Given the description of an element on the screen output the (x, y) to click on. 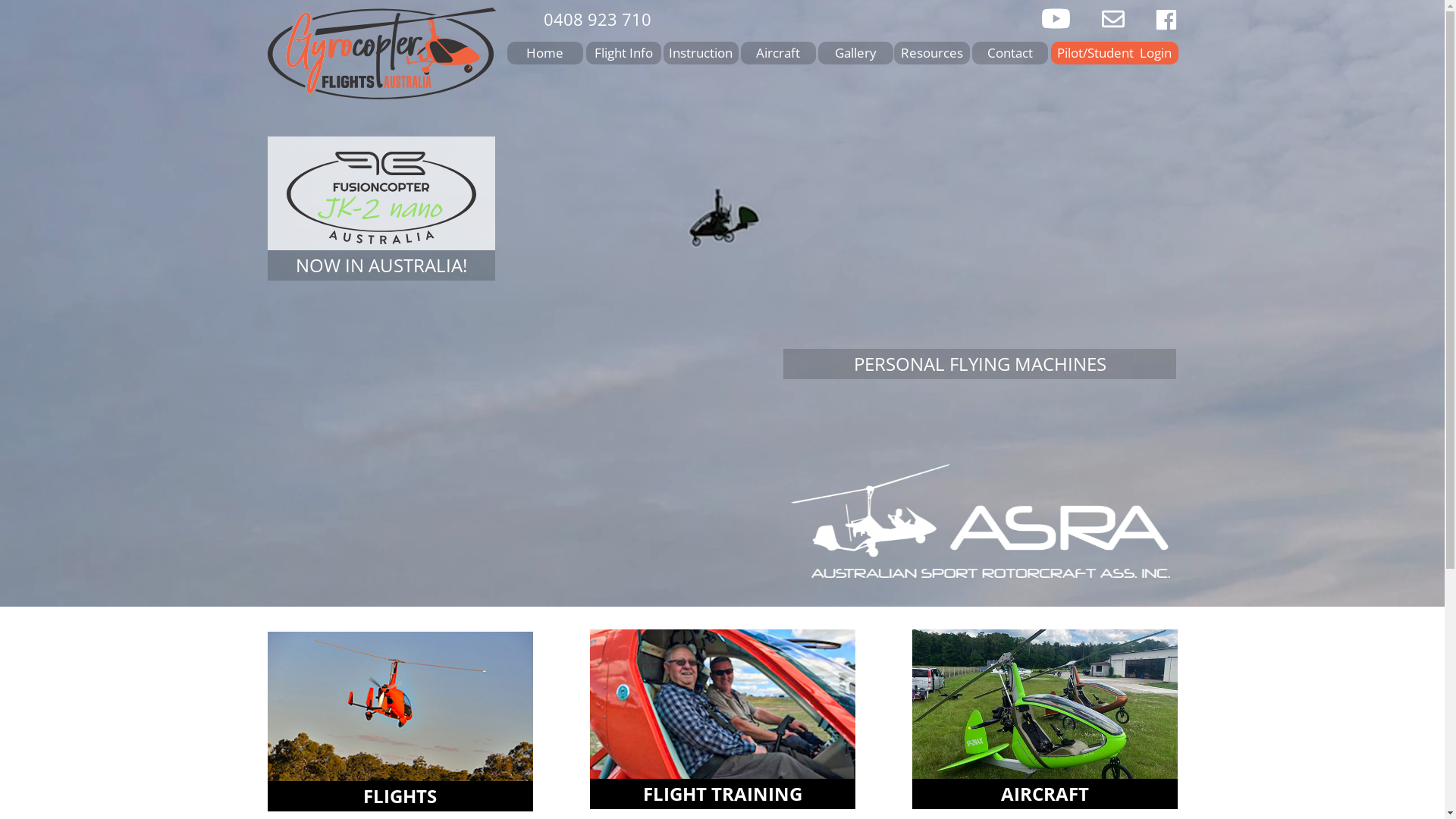
Aircraft Element type: text (777, 52)
NOW IN AUSTRALIA! Element type: text (380, 265)
0408 923 710 Element type: text (596, 19)
Pilot/Student  Login Element type: text (1114, 52)
Home Element type: text (544, 52)
PERSONAL FLYING MACHINES Element type: text (978, 363)
Instruction Element type: text (699, 52)
FLIGHT TRAINING Element type: text (722, 793)
AIRCRAFT Element type: text (1043, 793)
Flight Info Element type: text (622, 52)
Resources Element type: text (931, 52)
FLIGHTS Element type: text (399, 796)
Contact Element type: text (1010, 52)
Gallery Element type: text (854, 52)
